Given the description of an element on the screen output the (x, y) to click on. 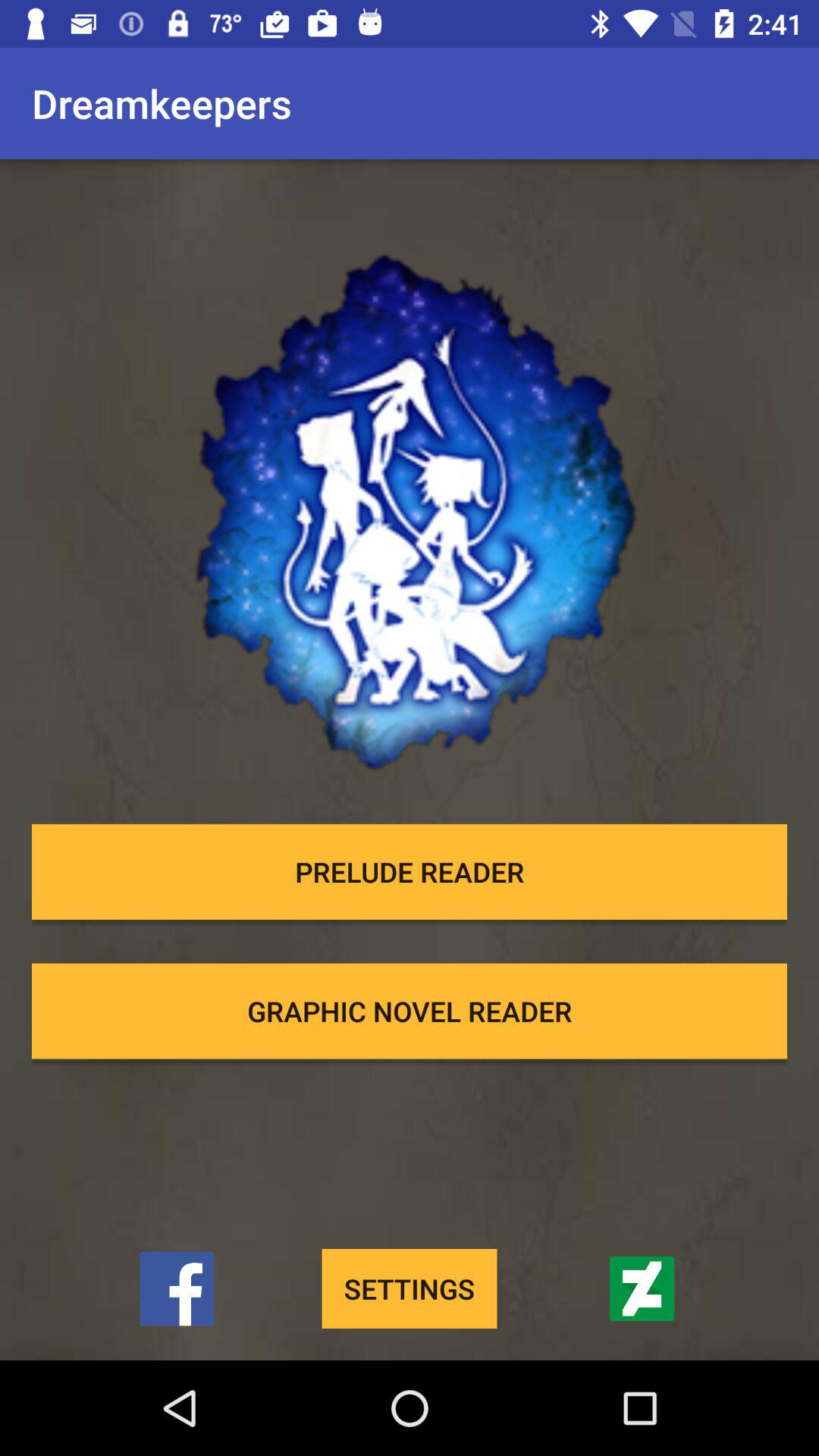
click item below graphic novel reader (409, 1288)
